Given the description of an element on the screen output the (x, y) to click on. 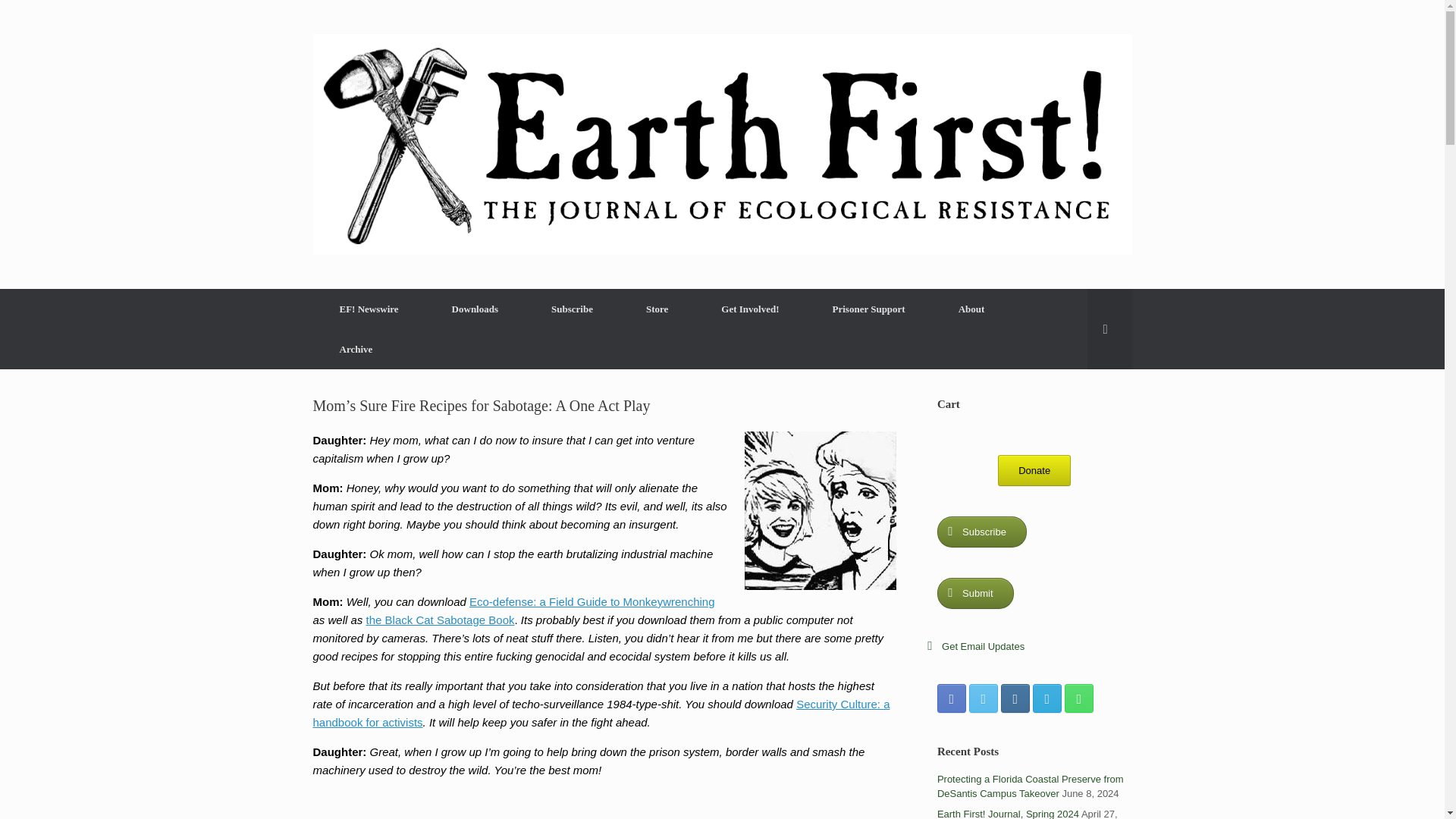
aspirin (820, 510)
Earth First! Journal Email (1046, 697)
Earth First! Journal Facebook (951, 697)
EF! Newswire (369, 309)
Security Culture: a handbook for activists (601, 712)
Prisoner Support (868, 309)
Earth First! Journal Instagram (1015, 697)
Earth First! Journal Phone (1078, 697)
Earth First! Journal Twitter (983, 697)
Subscribe (981, 531)
he Black Cat Sabotage Book (442, 619)
Subscribe (572, 309)
Get Involved! (749, 309)
Archive (355, 349)
